Given the description of an element on the screen output the (x, y) to click on. 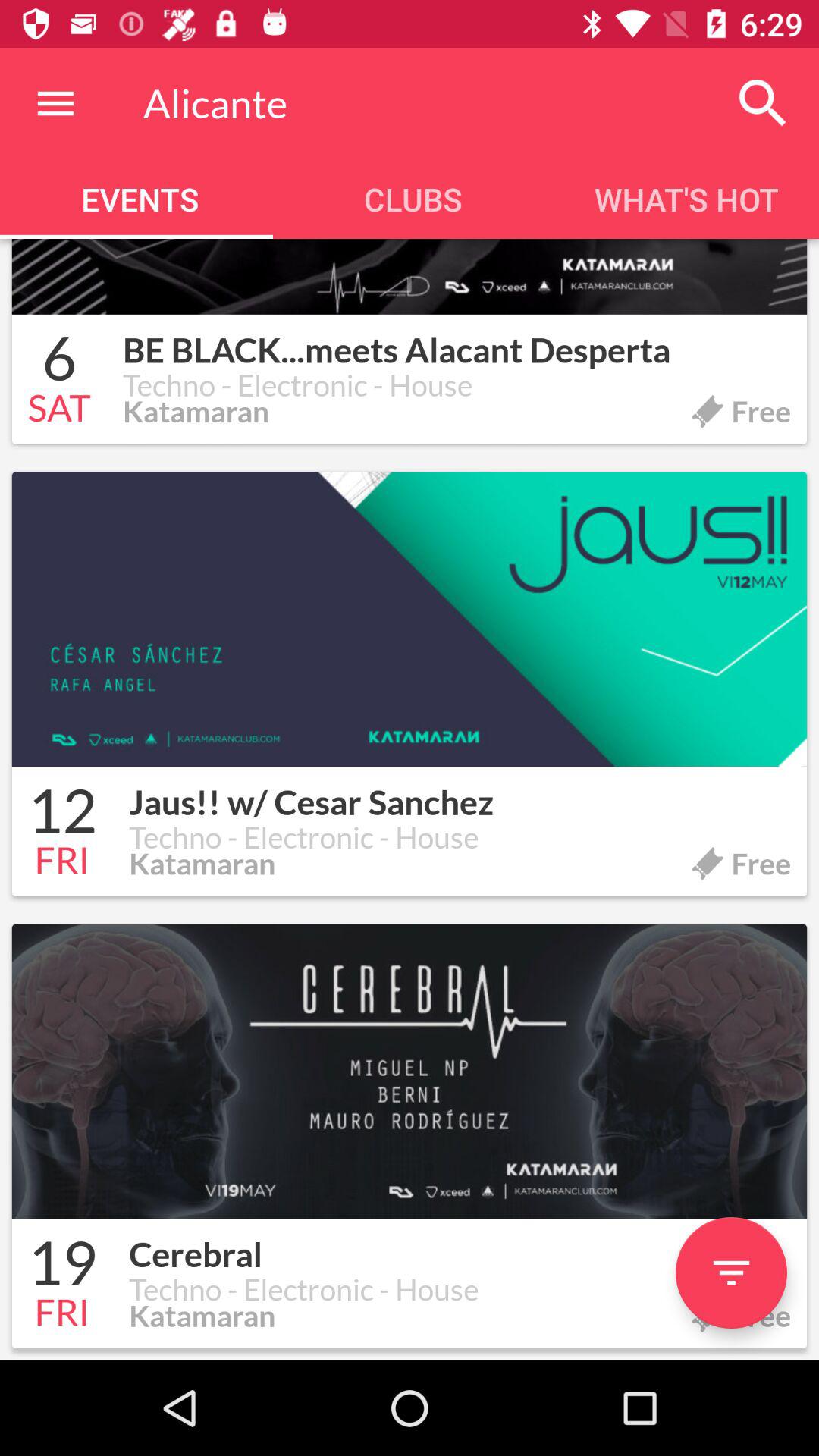
click the icon to the left of the cerebral (62, 1265)
